Given the description of an element on the screen output the (x, y) to click on. 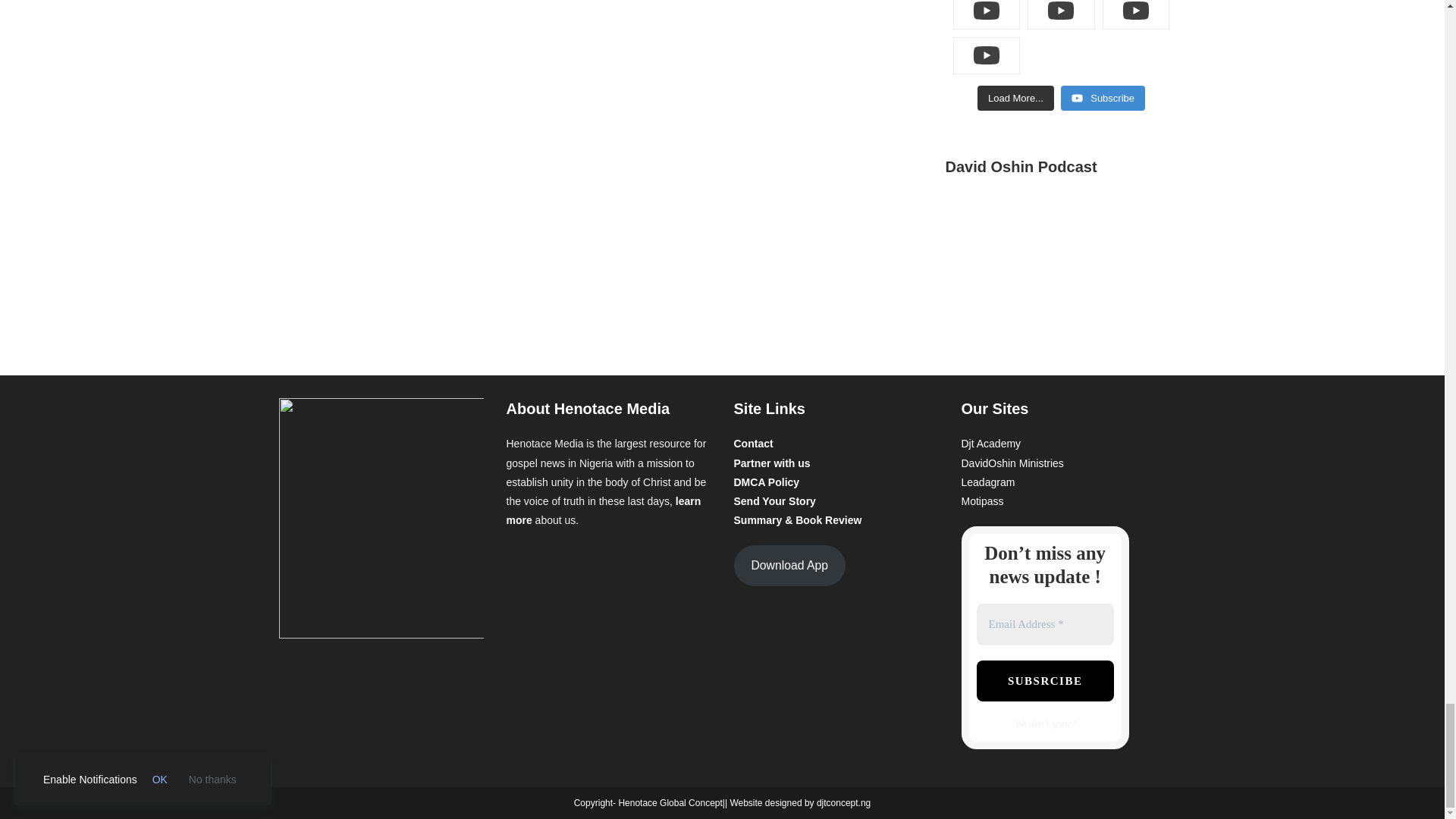
Email Address (1044, 624)
Spotify Embed: David Oshin (1060, 257)
Subsrcibe (1044, 680)
